Given the description of an element on the screen output the (x, y) to click on. 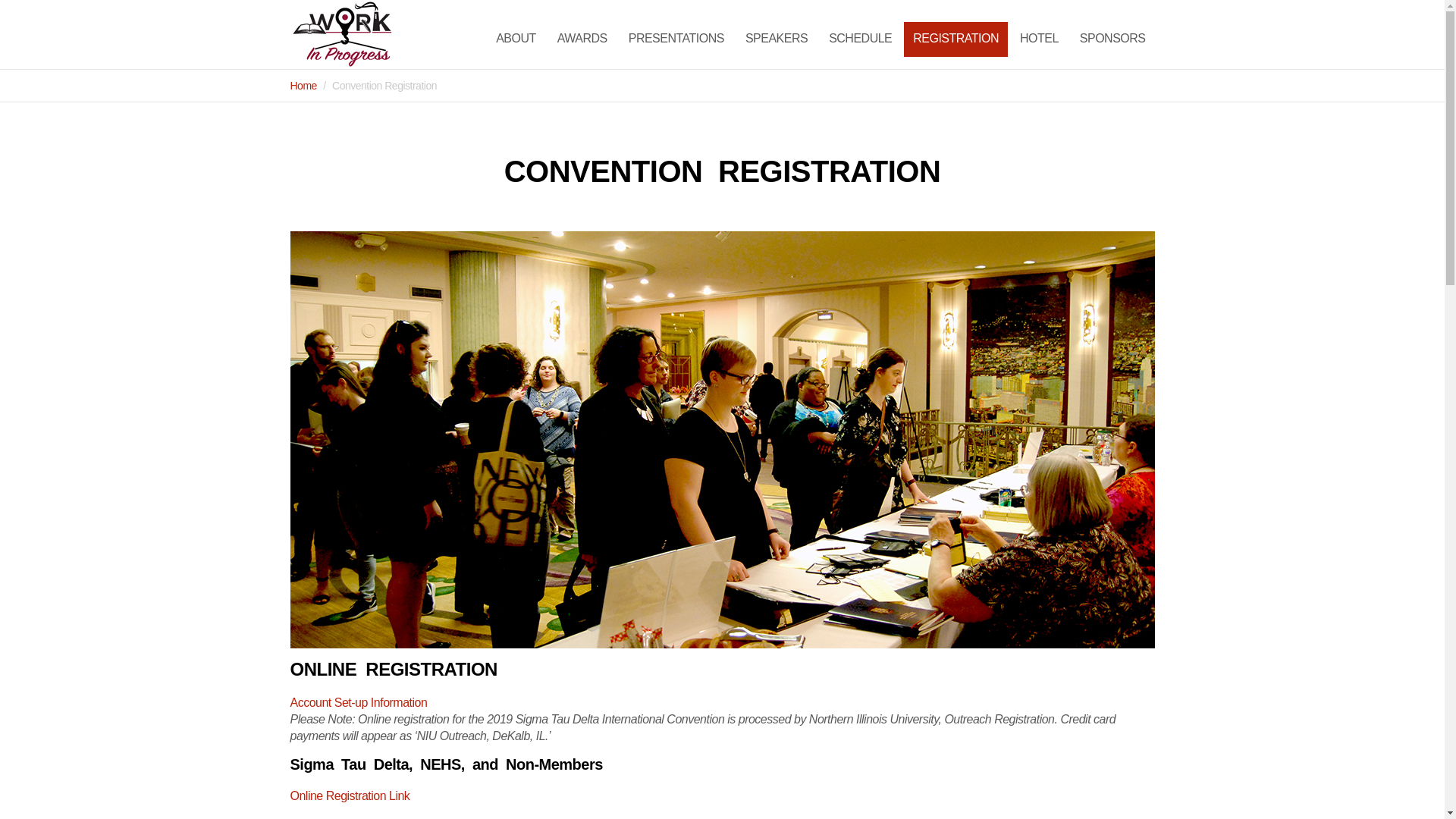
SPEAKERS (776, 39)
Home (302, 85)
Online Registration Link (349, 795)
AWARDS (581, 39)
ABOUT (515, 39)
HOTEL (1038, 39)
PRESENTATIONS (676, 39)
REGISTRATION (955, 39)
SPONSORS (1112, 39)
SCHEDULE (860, 39)
